Given the description of an element on the screen output the (x, y) to click on. 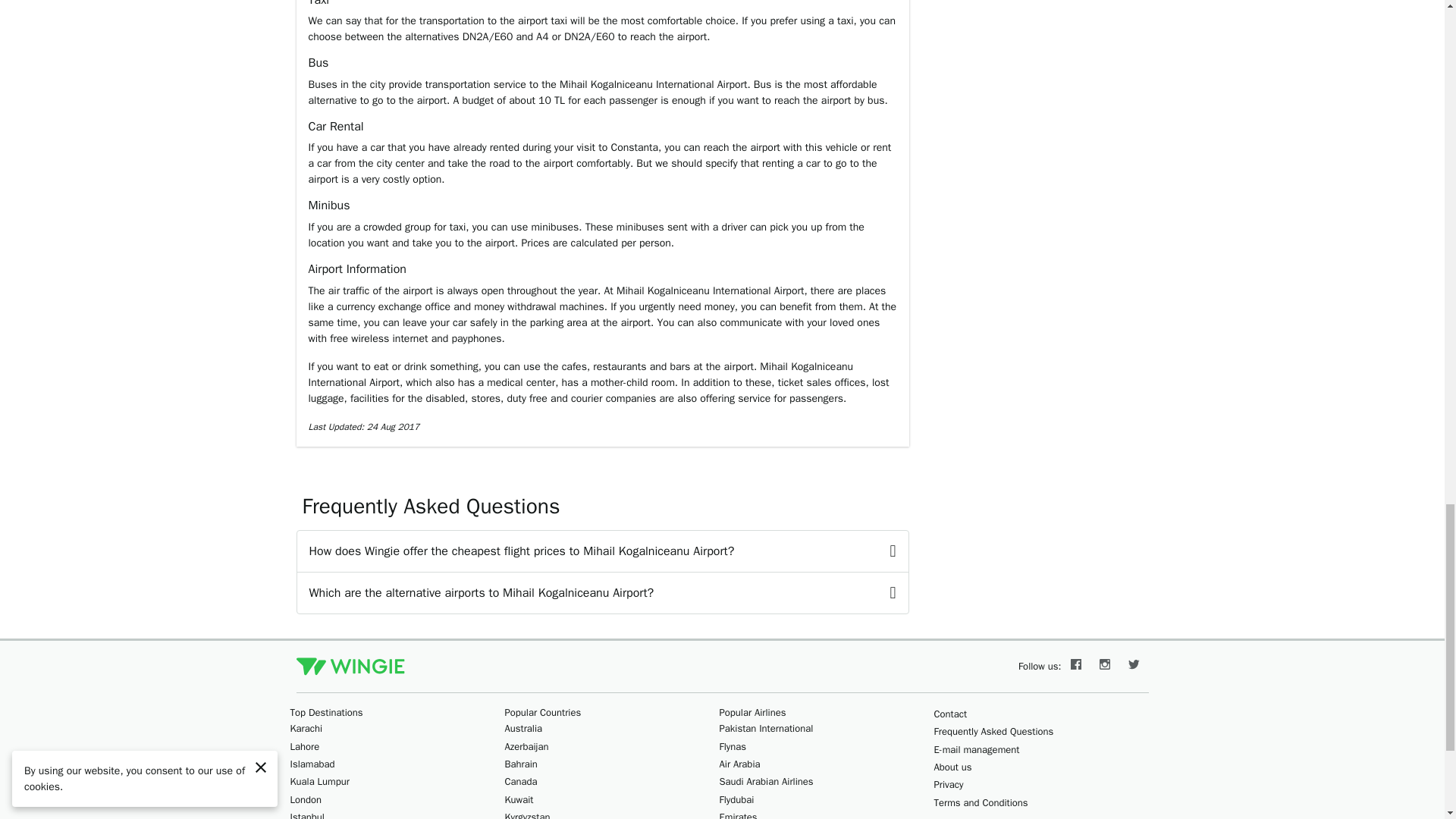
Twitter (1133, 666)
Islamabad (311, 763)
Azerbaijan (526, 746)
Istanbul (306, 814)
Instagram (1104, 666)
Canada (521, 780)
Australia (524, 727)
Kuwait (519, 799)
Popular Countries (542, 712)
Top Destinations (325, 712)
Bahrain (521, 763)
Kuala Lumpur (319, 780)
Popular Airlines (752, 712)
Top Destinations (325, 712)
Pakistan International (765, 727)
